Given the description of an element on the screen output the (x, y) to click on. 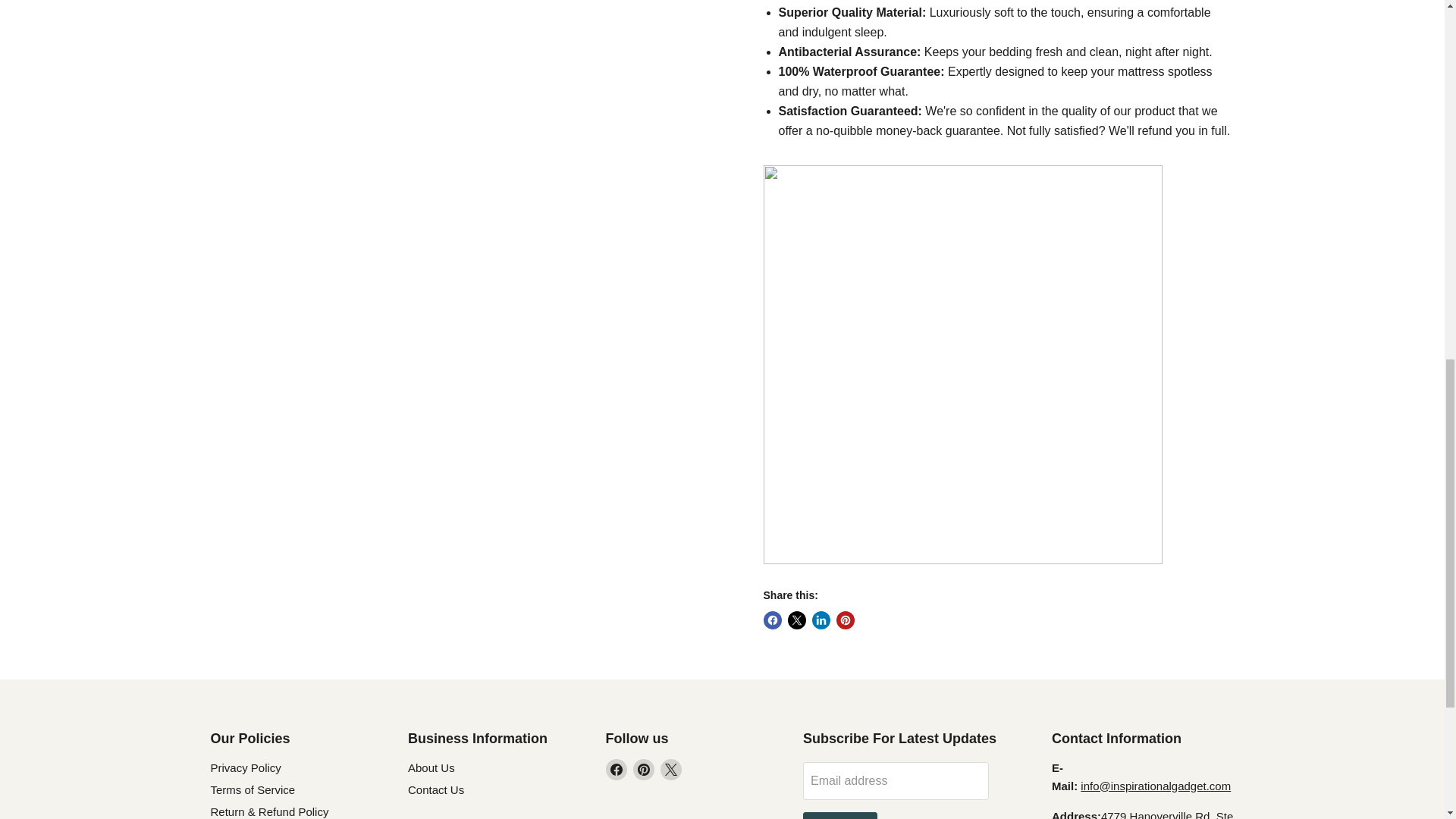
Share on LinkedIn (819, 619)
Pin on Pinterest (844, 619)
Privacy Policy (246, 767)
Share on Facebook (771, 619)
X (670, 769)
Share on X (796, 619)
Facebook (615, 769)
Pinterest (642, 769)
Terms of Service (253, 789)
